Given the description of an element on the screen output the (x, y) to click on. 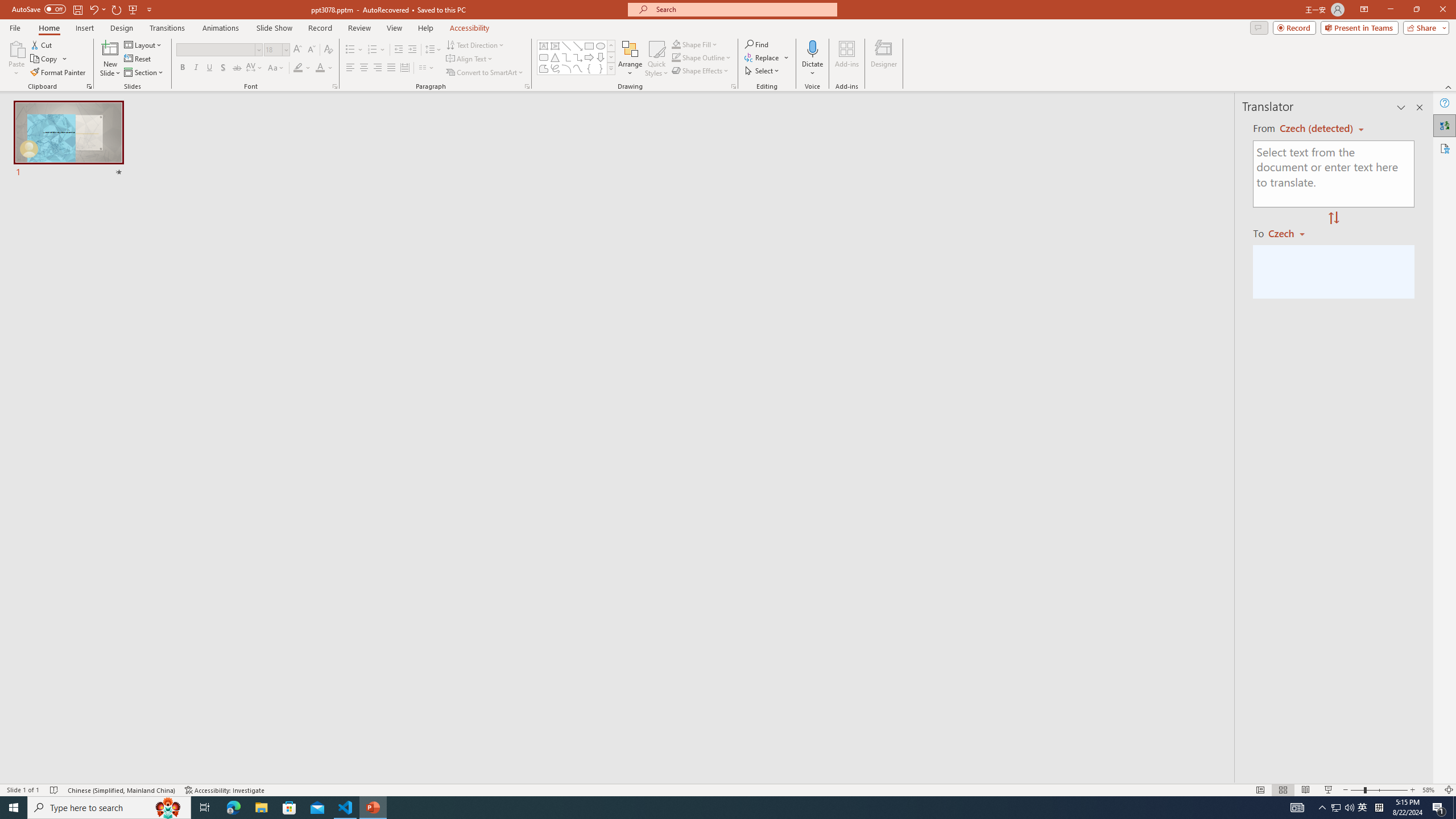
Problems (Ctrl+Shift+M) (323, 533)
Class: menubar compact overflow-menu-only (76, 183)
Ports - 26 forwarded ports (662, 533)
Adjust indents and spacing - Microsoft Support (23, 315)
Accounts - Sign in requested (76, 690)
Manage (76, 734)
